Given the description of an element on the screen output the (x, y) to click on. 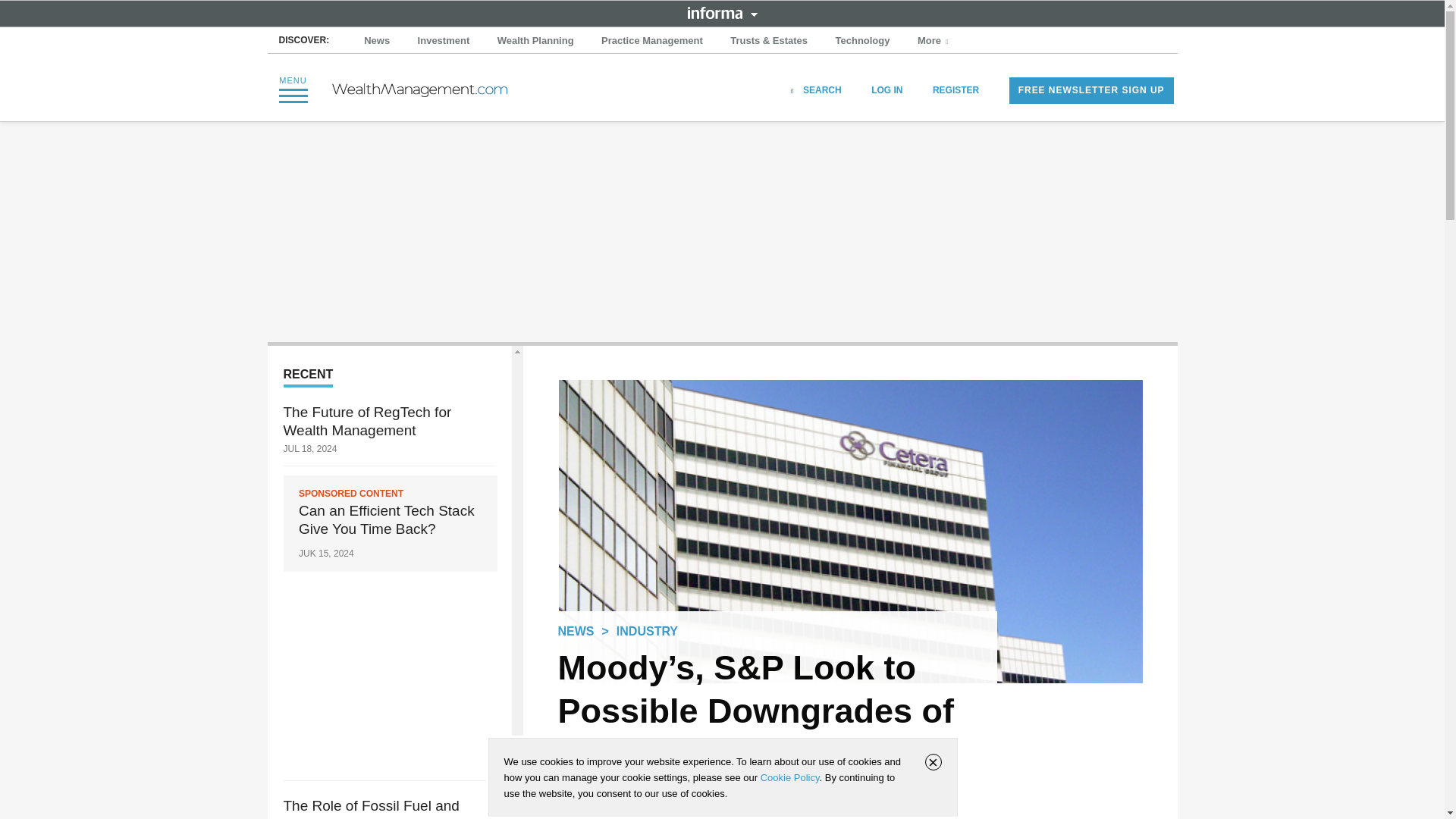
Cookie Policy (789, 777)
INFORMA (722, 12)
Wealth Planning (535, 41)
Investment (444, 41)
Technology (862, 41)
Practice Management (652, 41)
News (377, 41)
More (934, 41)
